Given the description of an element on the screen output the (x, y) to click on. 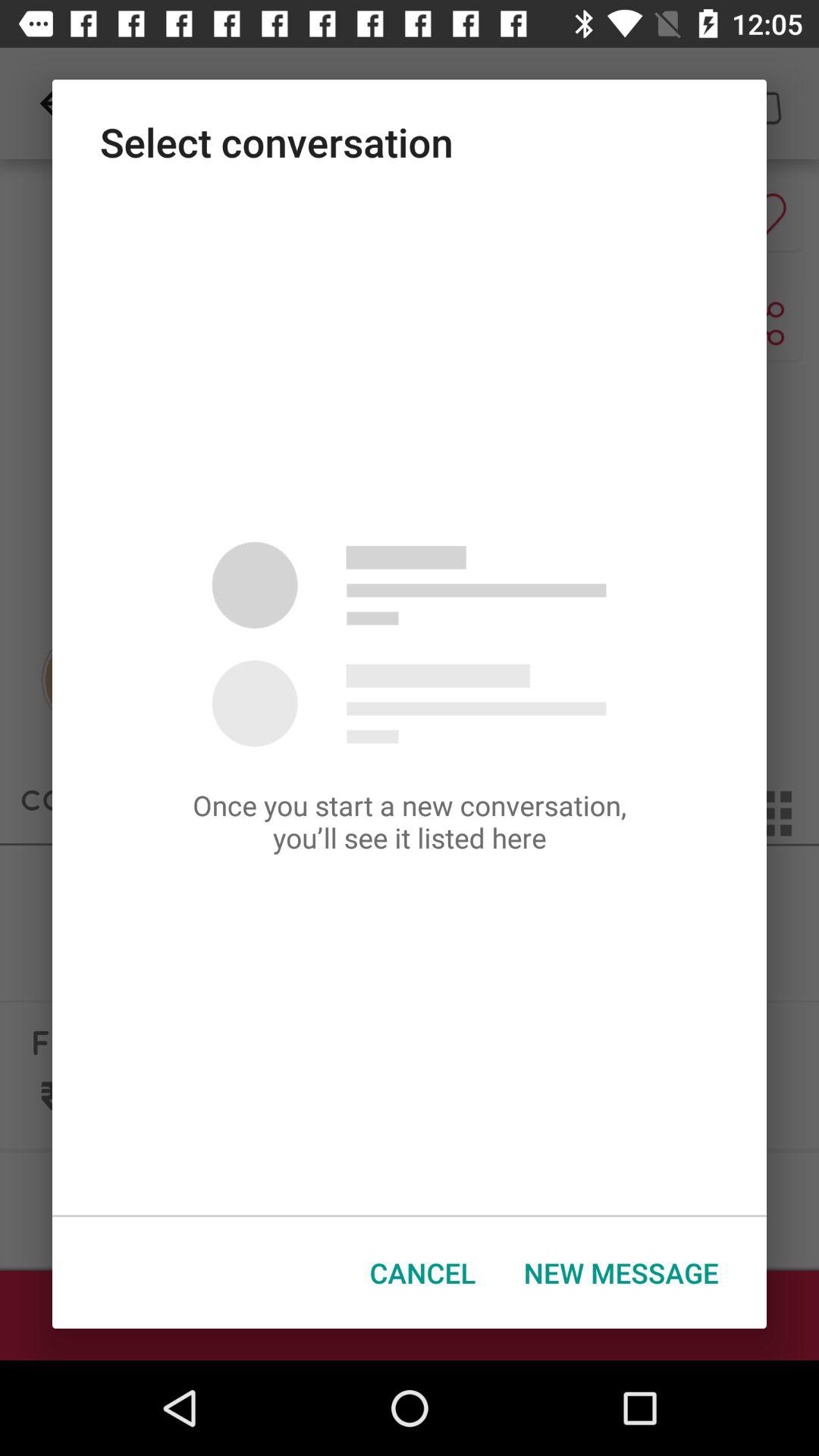
tap the item next to the cancel (620, 1272)
